Given the description of an element on the screen output the (x, y) to click on. 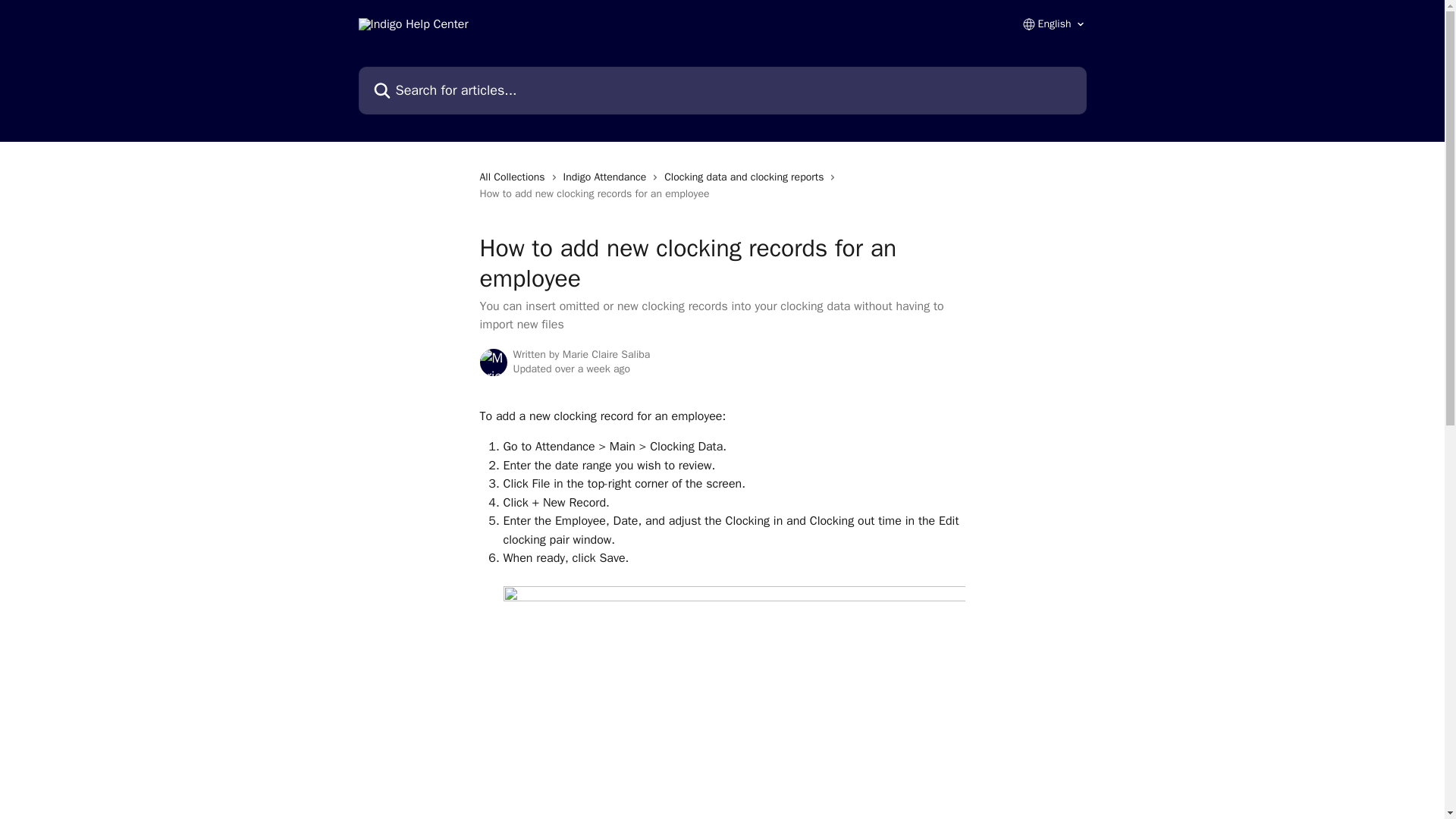
All Collections (514, 176)
Clocking data and clocking reports (746, 176)
Indigo Attendance (607, 176)
